Given the description of an element on the screen output the (x, y) to click on. 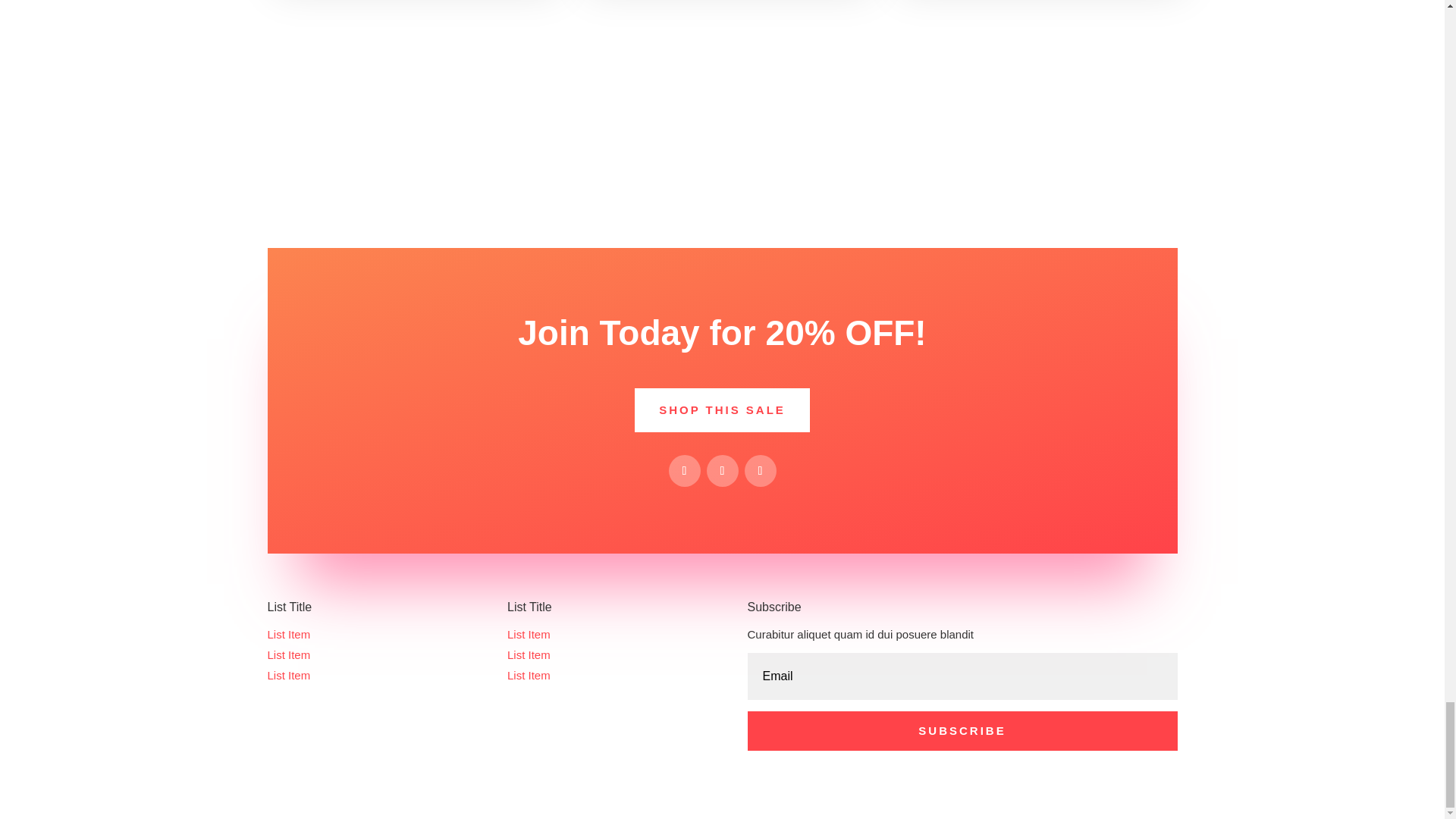
Follow on Facebook (684, 470)
Follow on Youtube (760, 470)
Follow on X (722, 470)
SHOP THIS SALE (721, 410)
